Given the description of an element on the screen output the (x, y) to click on. 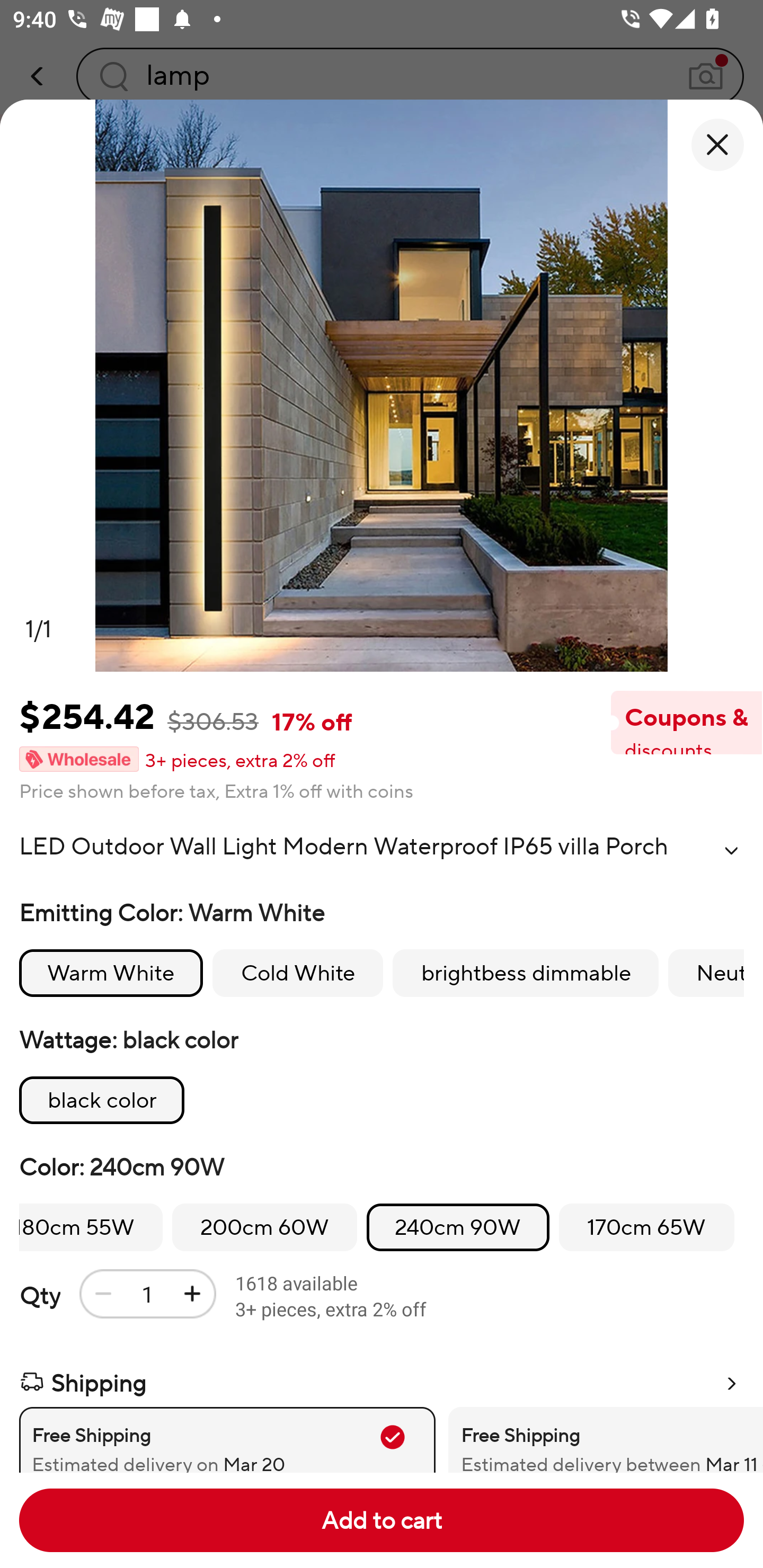
close  (717, 144)
 (730, 850)
Warm White (110, 972)
Cold White (297, 972)
brightbess dimmable (525, 972)
Neutral light (705, 972)
black color (101, 1099)
180cm 55W (90, 1227)
200cm 60W (264, 1227)
240cm 90W (458, 1227)
170cm 65W (646, 1227)
Add to cart (381, 1520)
